Given the description of an element on the screen output the (x, y) to click on. 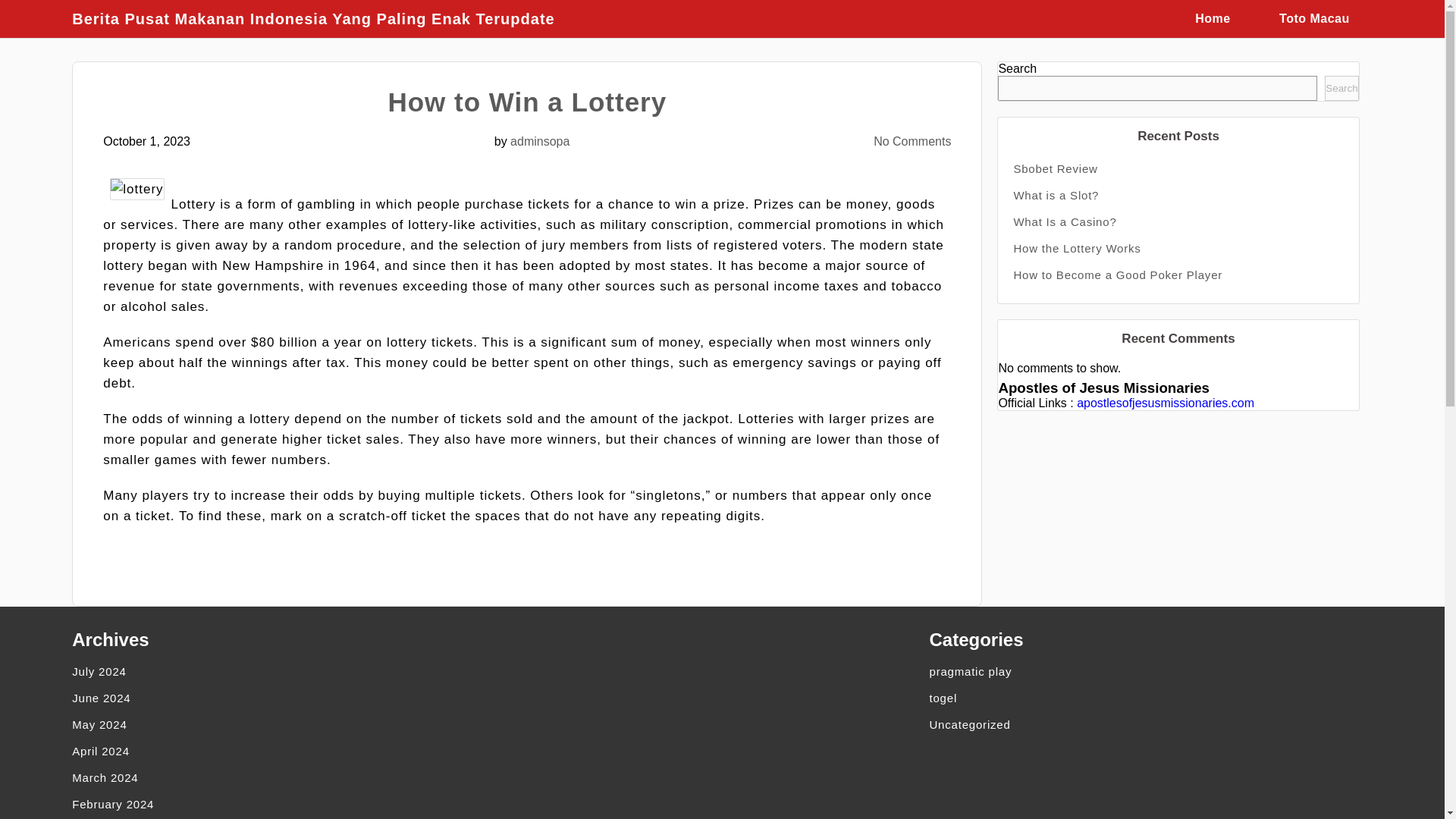
What Is a Casino? (1177, 221)
Berita Pusat Makanan Indonesia Yang Paling Enak Terupdate (320, 18)
May 2024 (285, 724)
Toto Macau (1314, 18)
April 2024 (285, 750)
Home (1212, 18)
March 2024 (285, 777)
Search (1341, 88)
June 2024 (285, 697)
apostlesofjesusmissionaries.com (1165, 402)
How the Lottery Works (1177, 248)
February 2024 (285, 804)
How to Become a Good Poker Player (1177, 274)
What is a Slot? (1177, 194)
